Given the description of an element on the screen output the (x, y) to click on. 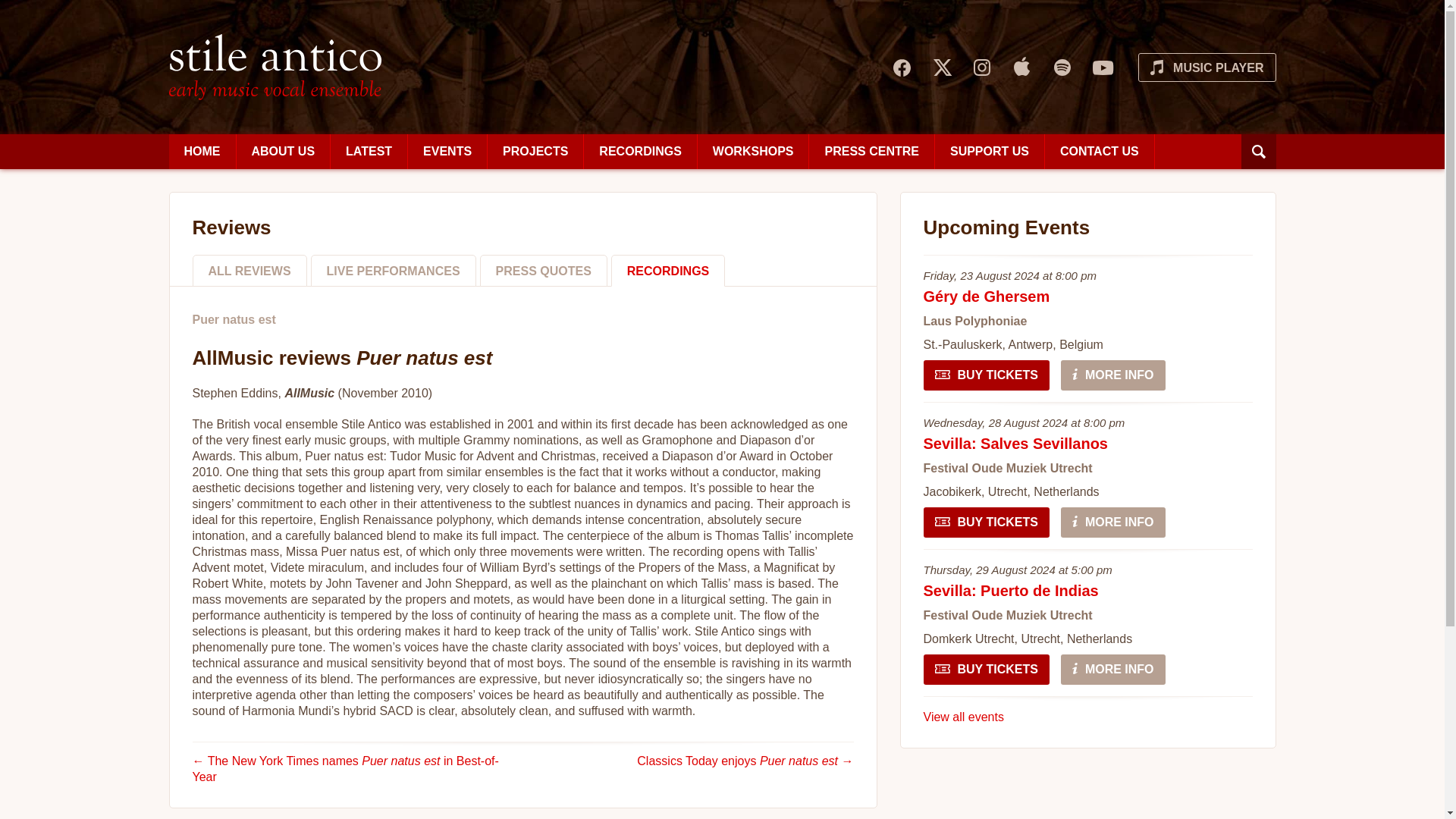
BUY TICKETS (986, 521)
Spotify (1062, 67)
SUPPORT US (988, 151)
Spotify (1062, 67)
LIVE PERFORMANCES (393, 270)
RECORDINGS (668, 270)
Facebook (900, 67)
Return to Home (274, 66)
Sevilla: Puerto de Indias (274, 66)
Instagram (1011, 590)
X (981, 67)
WORKSHOPS (940, 67)
HOME (753, 151)
Apple Music (201, 151)
